Given the description of an element on the screen output the (x, y) to click on. 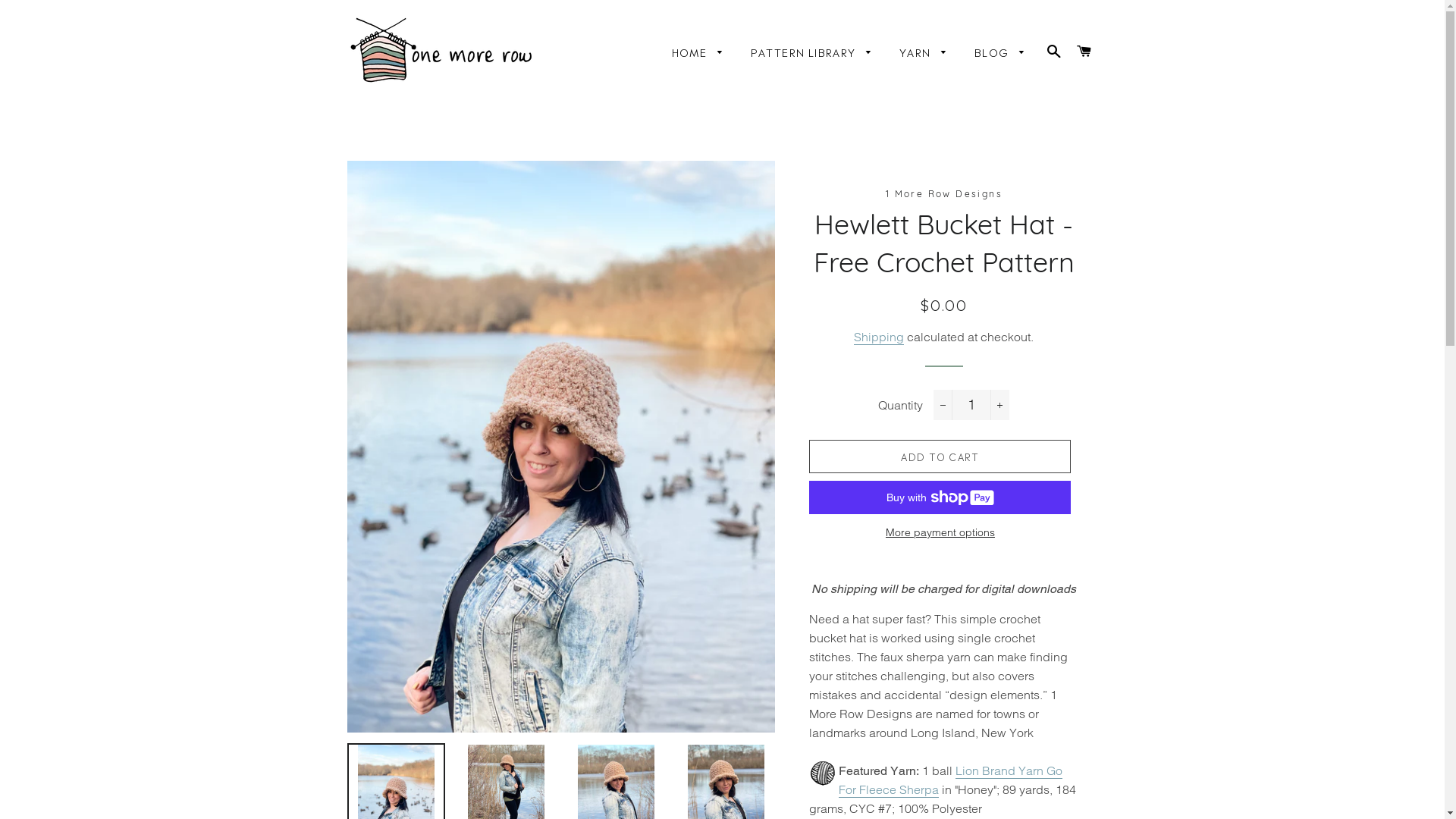
+ Element type: text (999, 404)
More payment options Element type: text (939, 532)
Lion Brand Yarn Go For Fleece Sherpa Element type: text (950, 779)
ADD TO CART Element type: text (939, 456)
SEARCH Element type: text (1054, 49)
BLOG Element type: text (1000, 52)
YARN Element type: text (924, 52)
PATTERN LIBRARY Element type: text (811, 52)
CART Element type: text (1083, 49)
HOME Element type: text (698, 52)
Shipping Element type: text (878, 337)
